Given the description of an element on the screen output the (x, y) to click on. 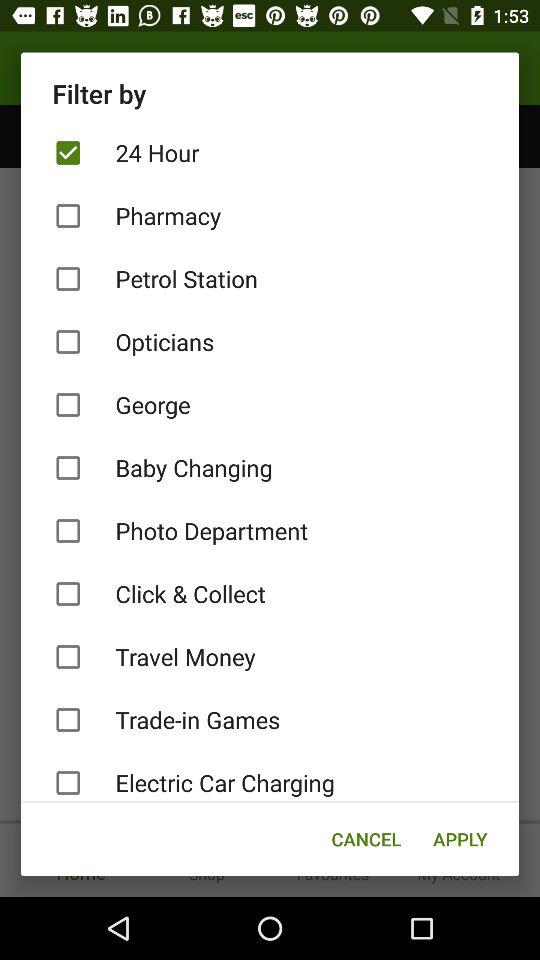
swipe until george (270, 404)
